Given the description of an element on the screen output the (x, y) to click on. 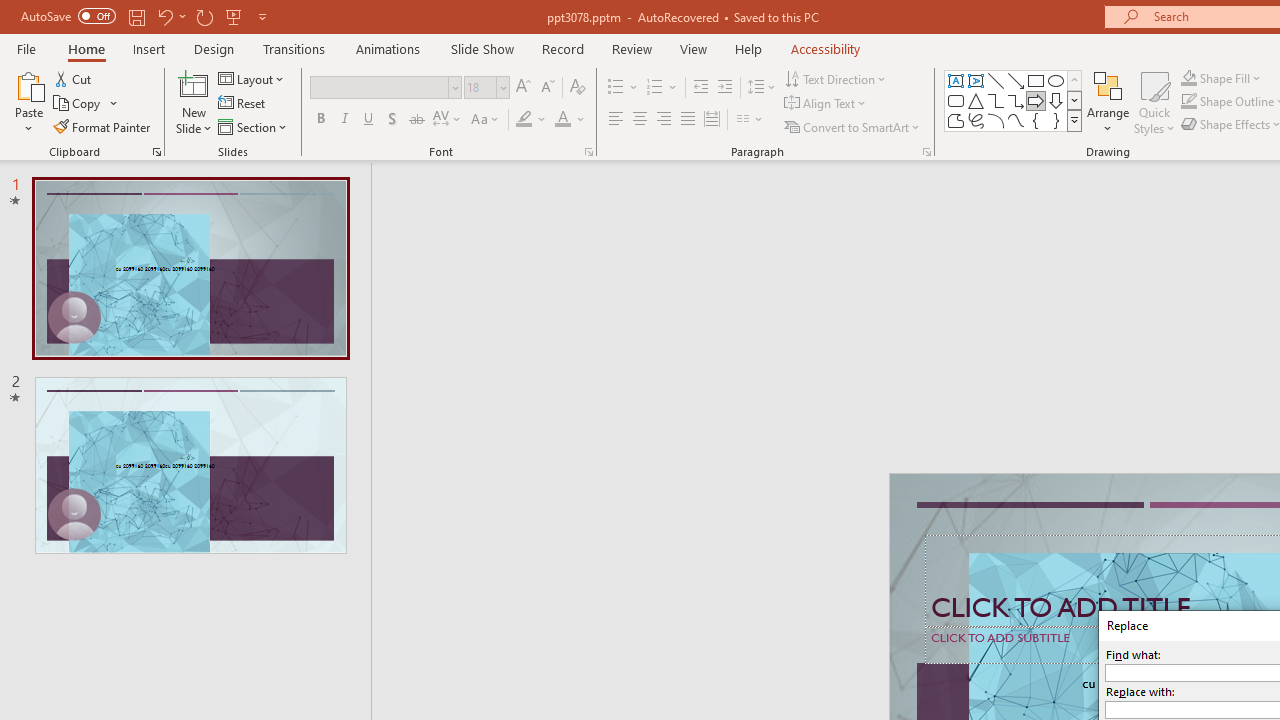
Shape Fill Dark Green, Accent 2 (1188, 78)
